Given the description of an element on the screen output the (x, y) to click on. 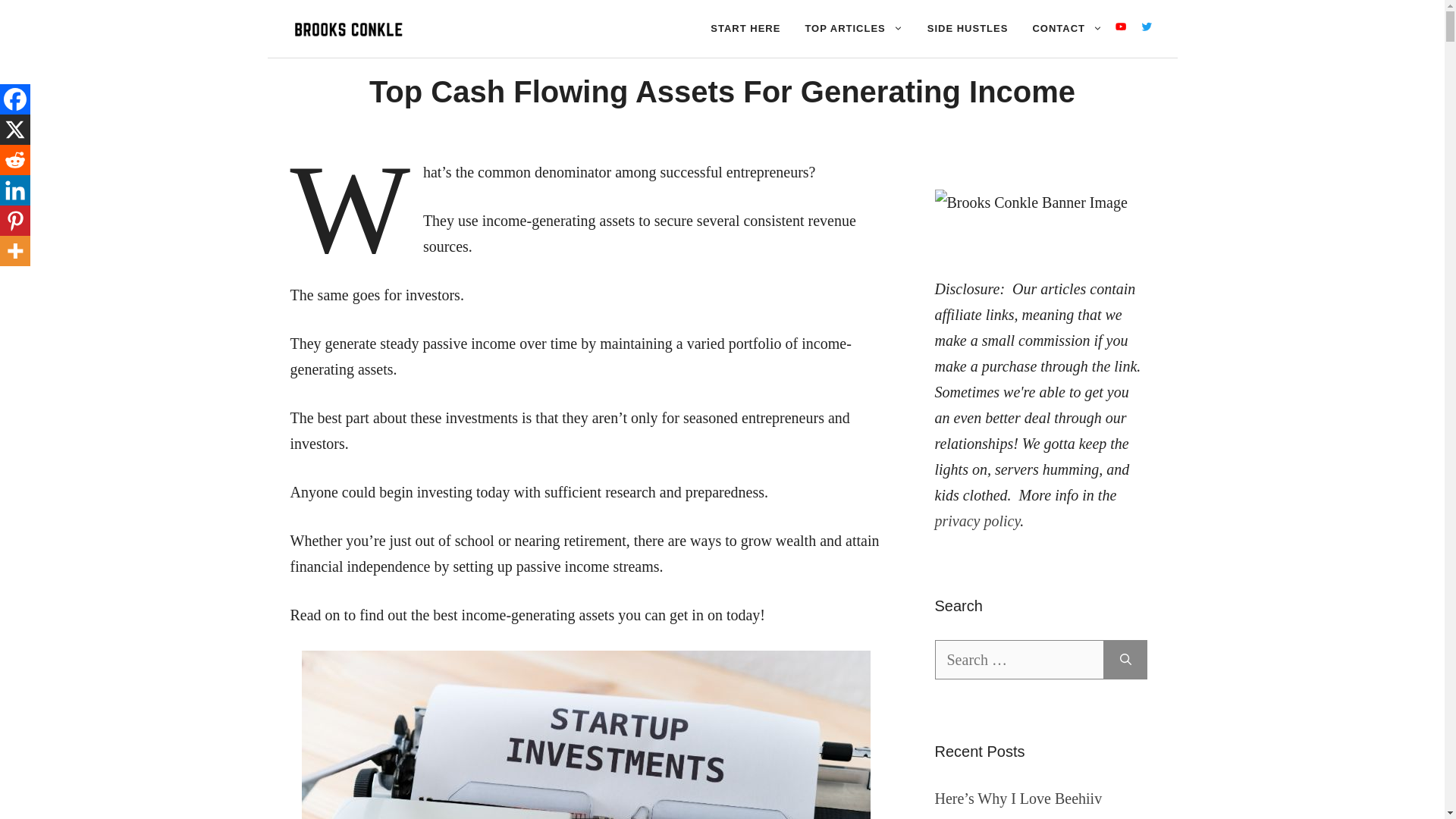
CONTACT (1067, 28)
Facebook (15, 99)
START HERE (745, 28)
Search for: (1018, 659)
TOP ARTICLES (853, 28)
SIDE HUSTLES (967, 28)
Pinterest (15, 220)
More (15, 250)
YOUTUBE (1120, 28)
Reddit (15, 159)
X (15, 129)
TWITTER (1146, 28)
Linkedin (15, 190)
